Given the description of an element on the screen output the (x, y) to click on. 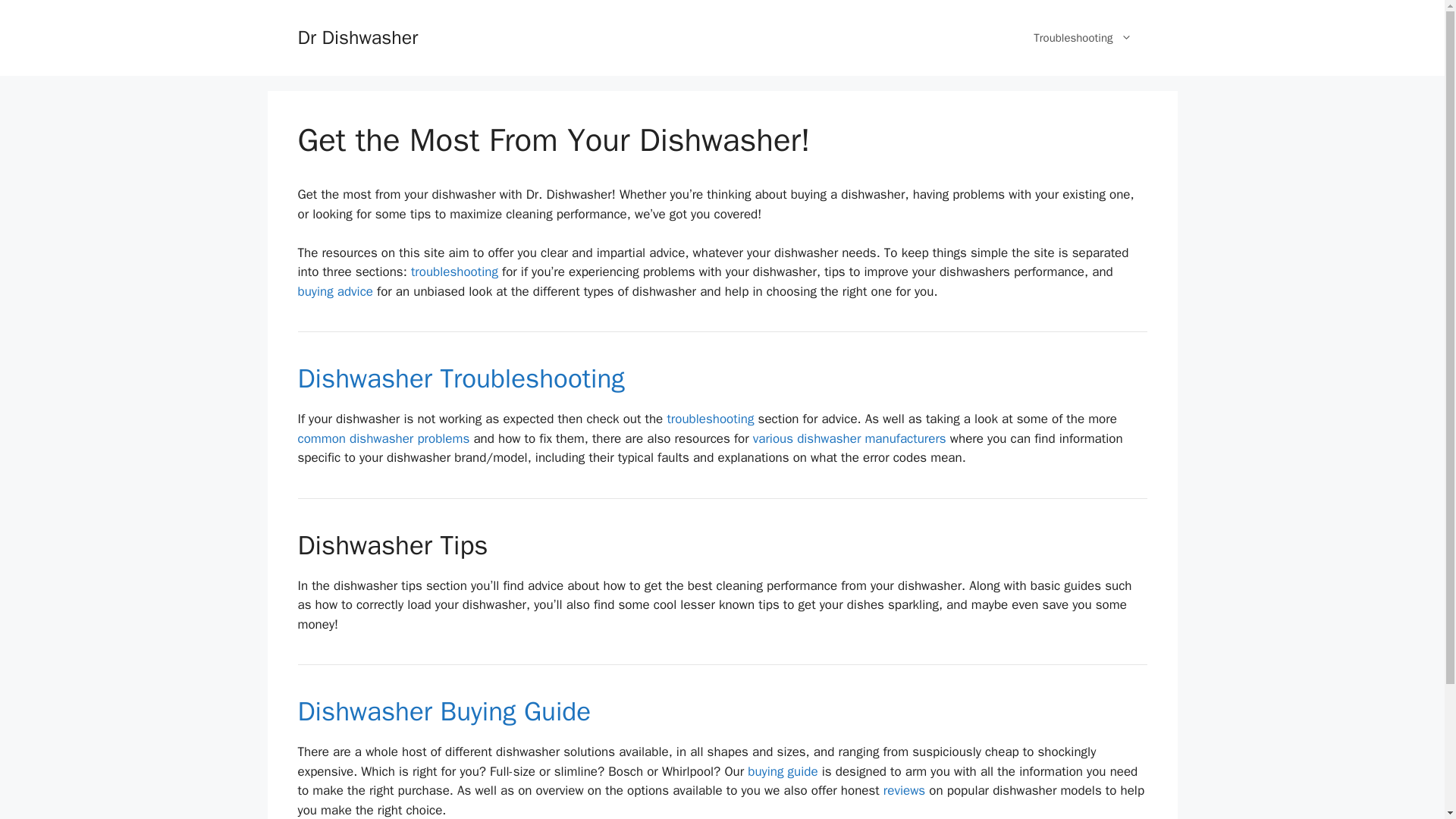
Dr Dishwasher (357, 37)
Dishwasher Buying Guide (444, 711)
Troubleshooting (1082, 37)
Dishwasher Troubleshooting (460, 377)
reviews (903, 790)
Manufacturer Specific Resources (849, 438)
Dishwasher Troubleshooting (460, 377)
buying advice (334, 291)
Reviews (903, 790)
common dishwasher problems (382, 438)
Dishwasher Troubleshooting (710, 418)
Buying Advice (444, 711)
troubleshooting (710, 418)
buying guide (782, 771)
Buying Advice (782, 771)
